Given the description of an element on the screen output the (x, y) to click on. 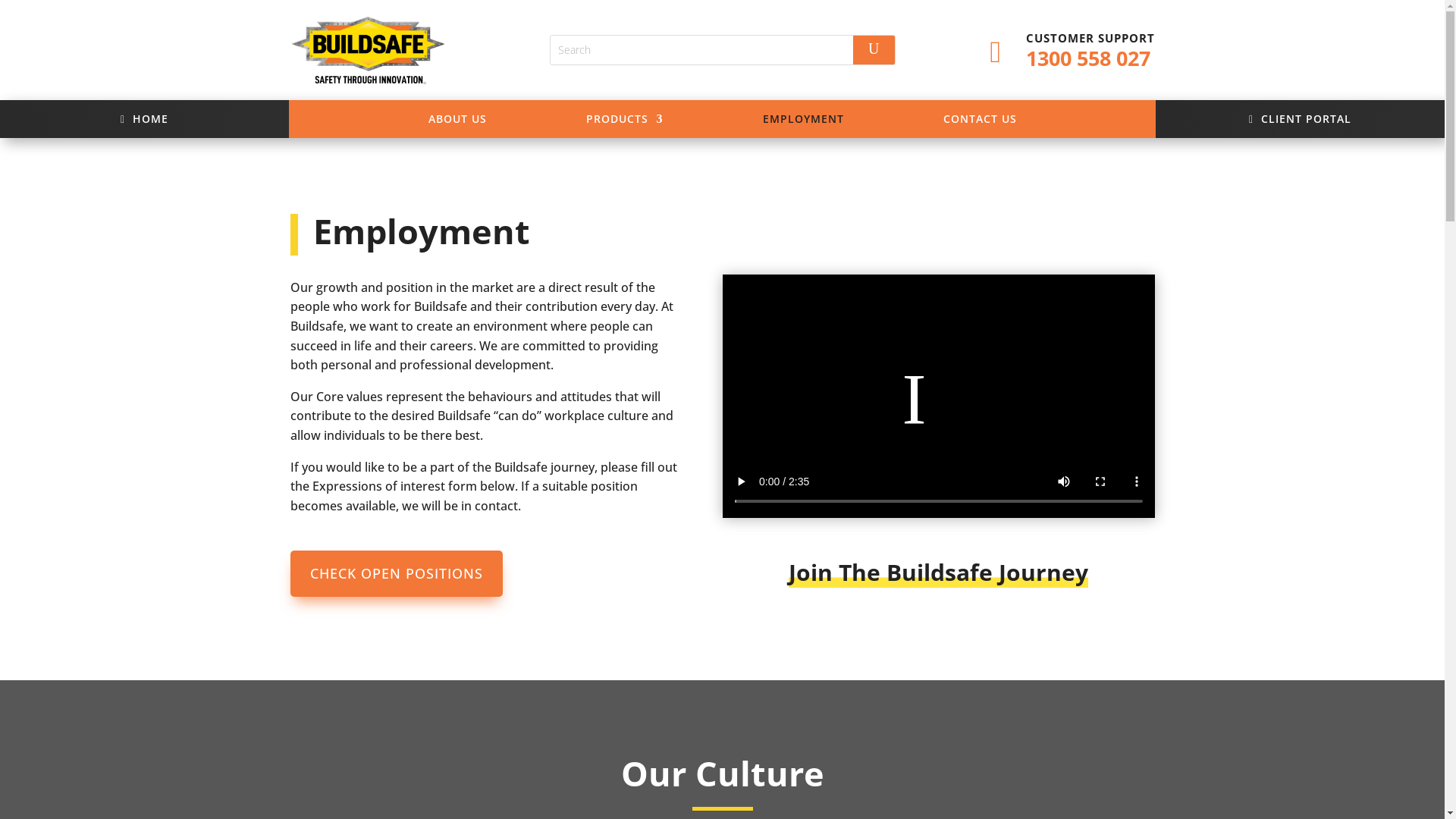
EMPLOYMENT Element type: text (803, 124)
PRODUCTS Element type: text (623, 124)
CONTACT US Element type: text (979, 124)
Search Element type: text (873, 49)
ABOUT US Element type: text (456, 124)
CHECK OPEN POSITIONS Element type: text (395, 573)
